Given the description of an element on the screen output the (x, y) to click on. 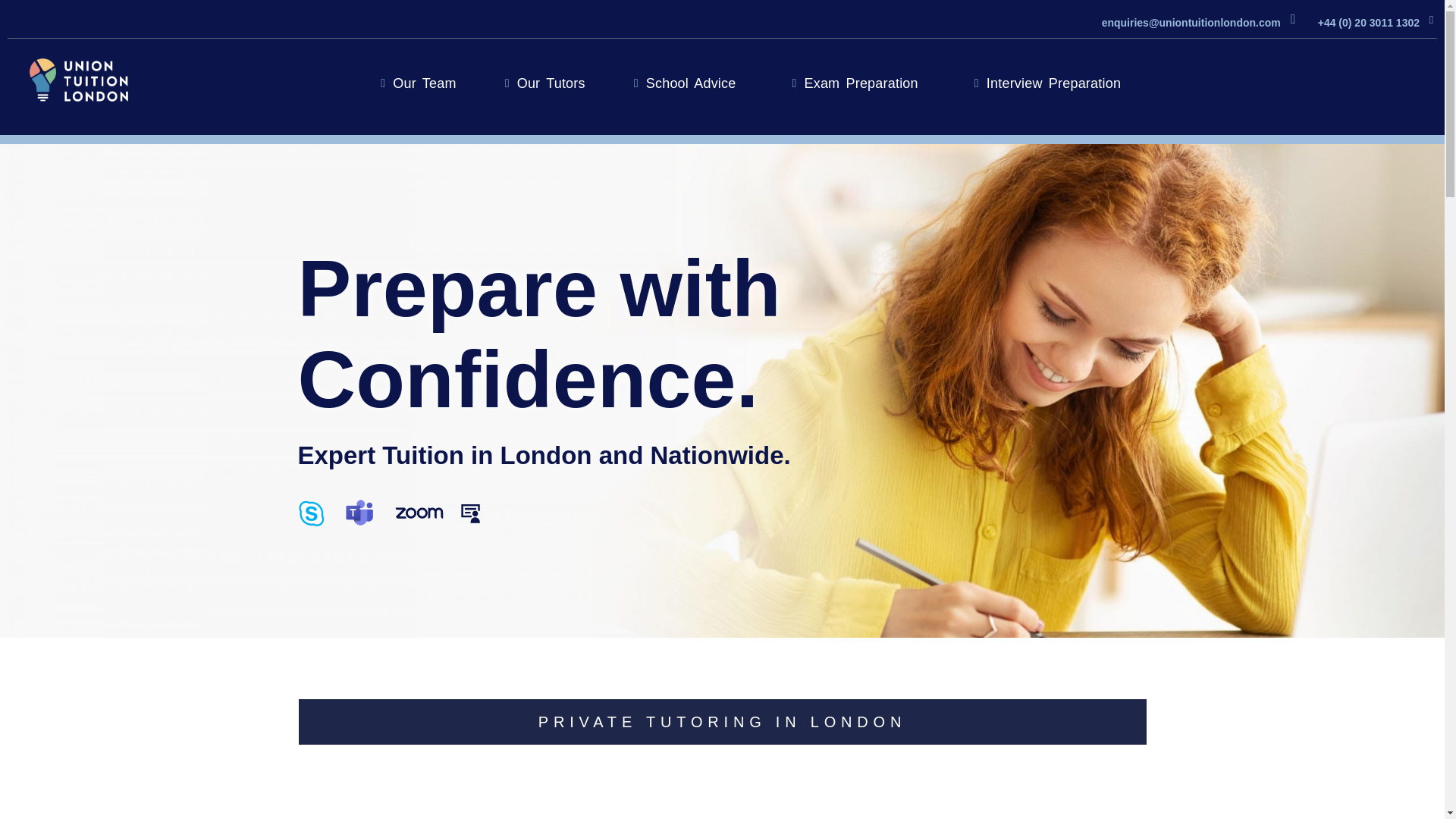
School Advice (689, 83)
Exam Preparation (858, 83)
Our Tutors (545, 83)
Our Team (418, 83)
